Given the description of an element on the screen output the (x, y) to click on. 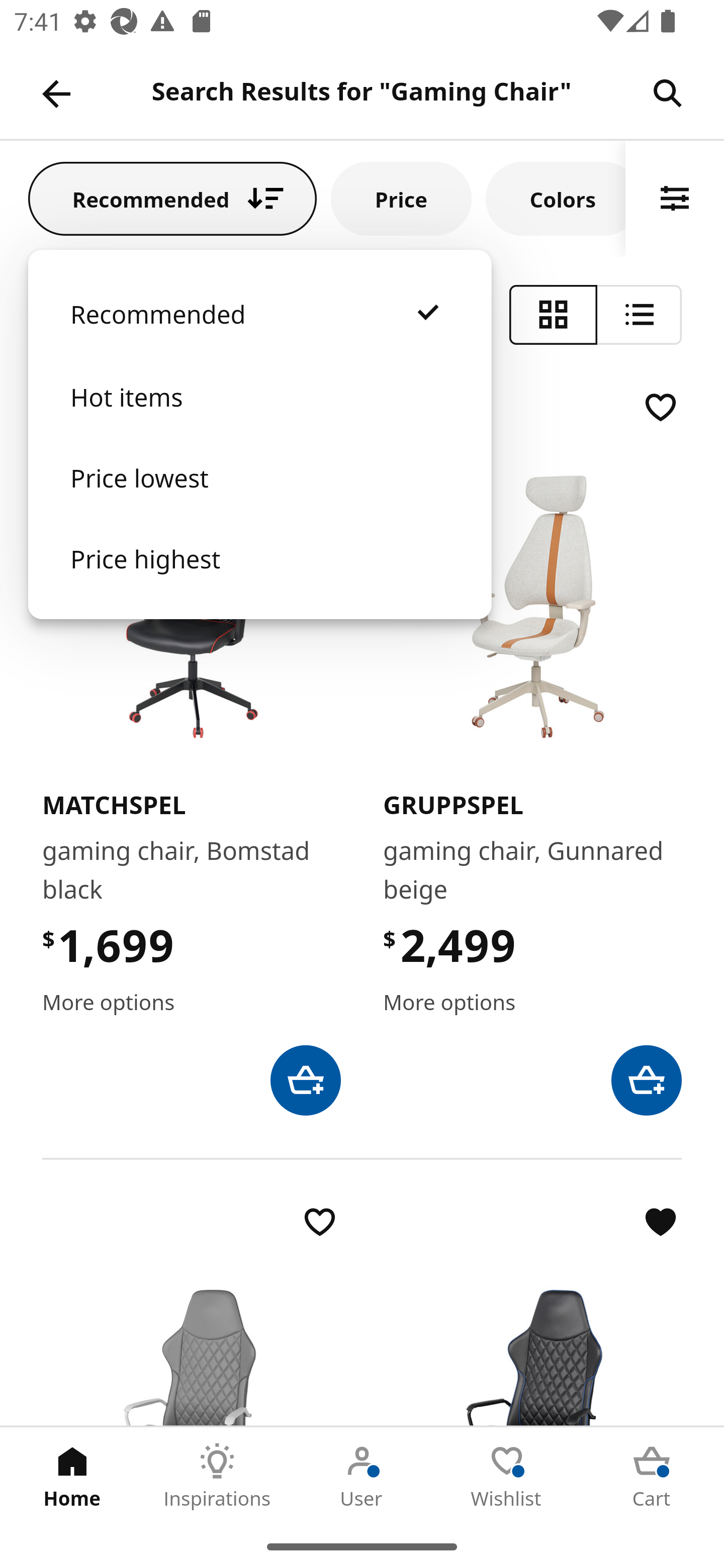
Recommended (172, 198)
Price (400, 198)
Colors (555, 198)
Recommended (259, 333)
Hot items (259, 416)
Price lowest (259, 497)
Price highest (259, 578)
Home
Tab 1 of 5 (72, 1476)
Inspirations
Tab 2 of 5 (216, 1476)
User
Tab 3 of 5 (361, 1476)
Wishlist
Tab 4 of 5 (506, 1476)
Cart
Tab 5 of 5 (651, 1476)
